Given the description of an element on the screen output the (x, y) to click on. 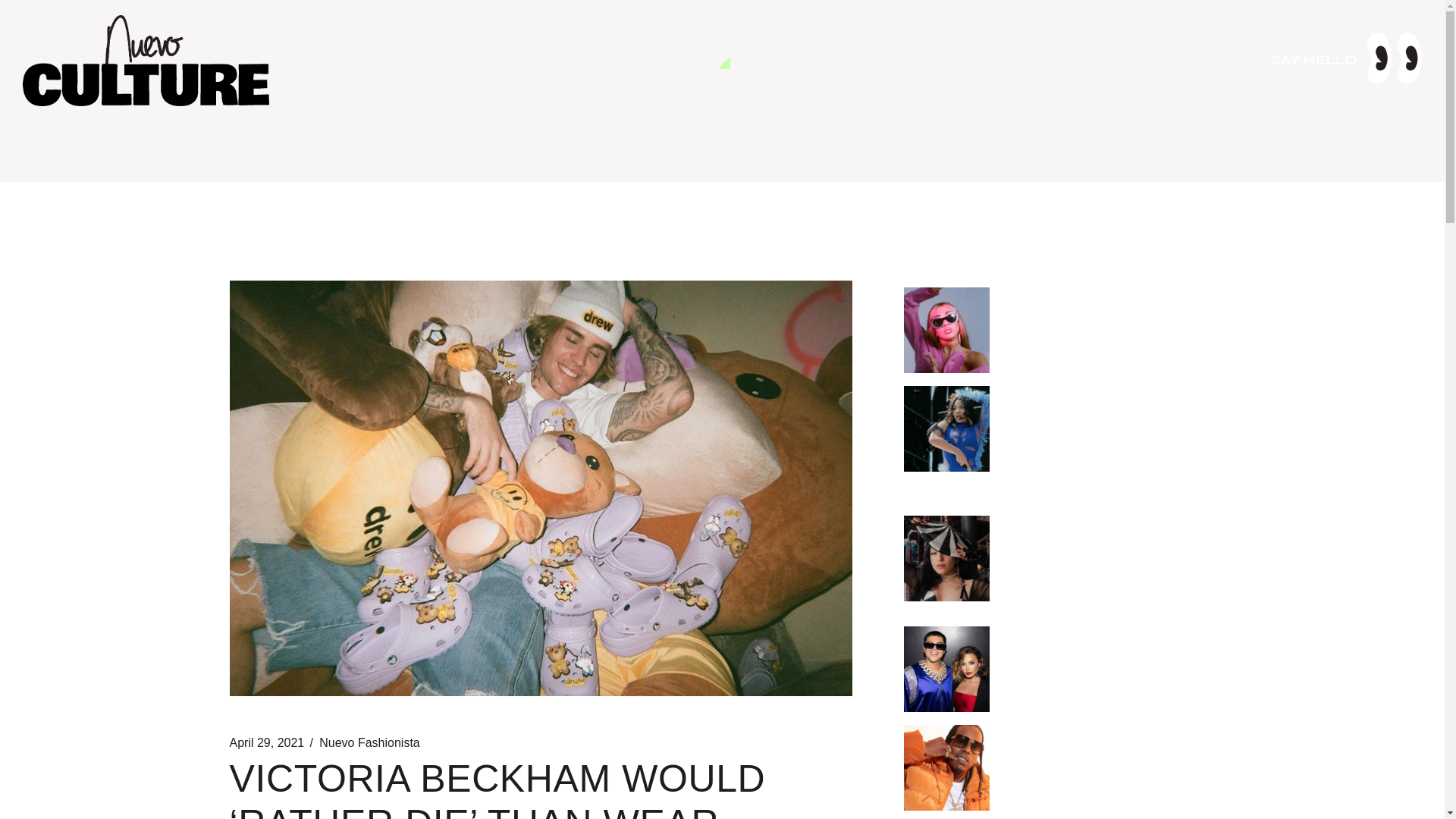
Nuevo Fashionista (369, 743)
April 29, 2021 (266, 743)
